Given the description of an element on the screen output the (x, y) to click on. 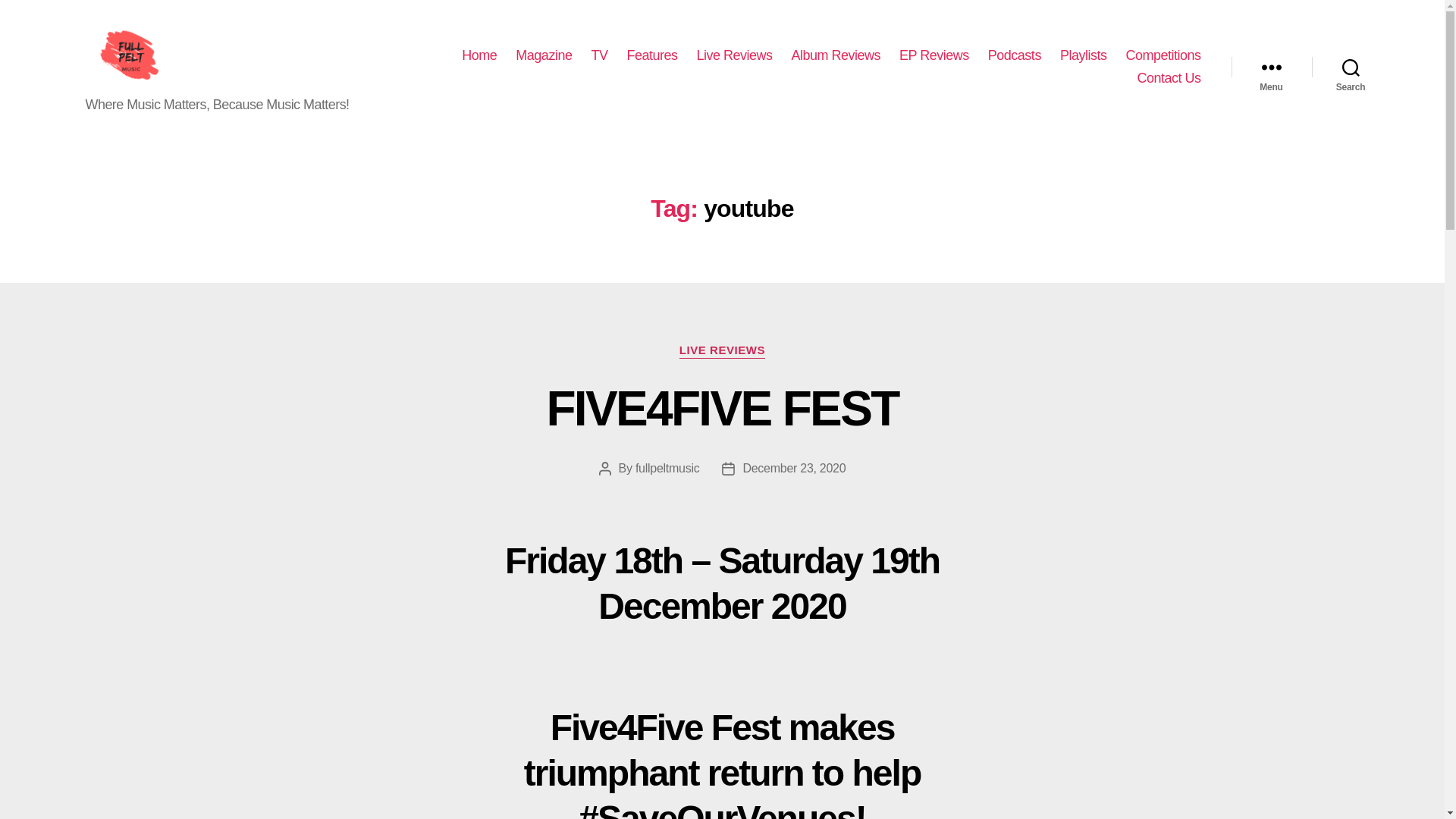
TV (599, 55)
Contact Us (1168, 77)
Menu (1271, 66)
Album Reviews (836, 55)
Home (478, 55)
Playlists (1082, 55)
Live Reviews (733, 55)
Magazine (543, 55)
Competitions (1162, 55)
Features (651, 55)
Search (1350, 66)
Podcasts (1014, 55)
EP Reviews (934, 55)
